Given the description of an element on the screen output the (x, y) to click on. 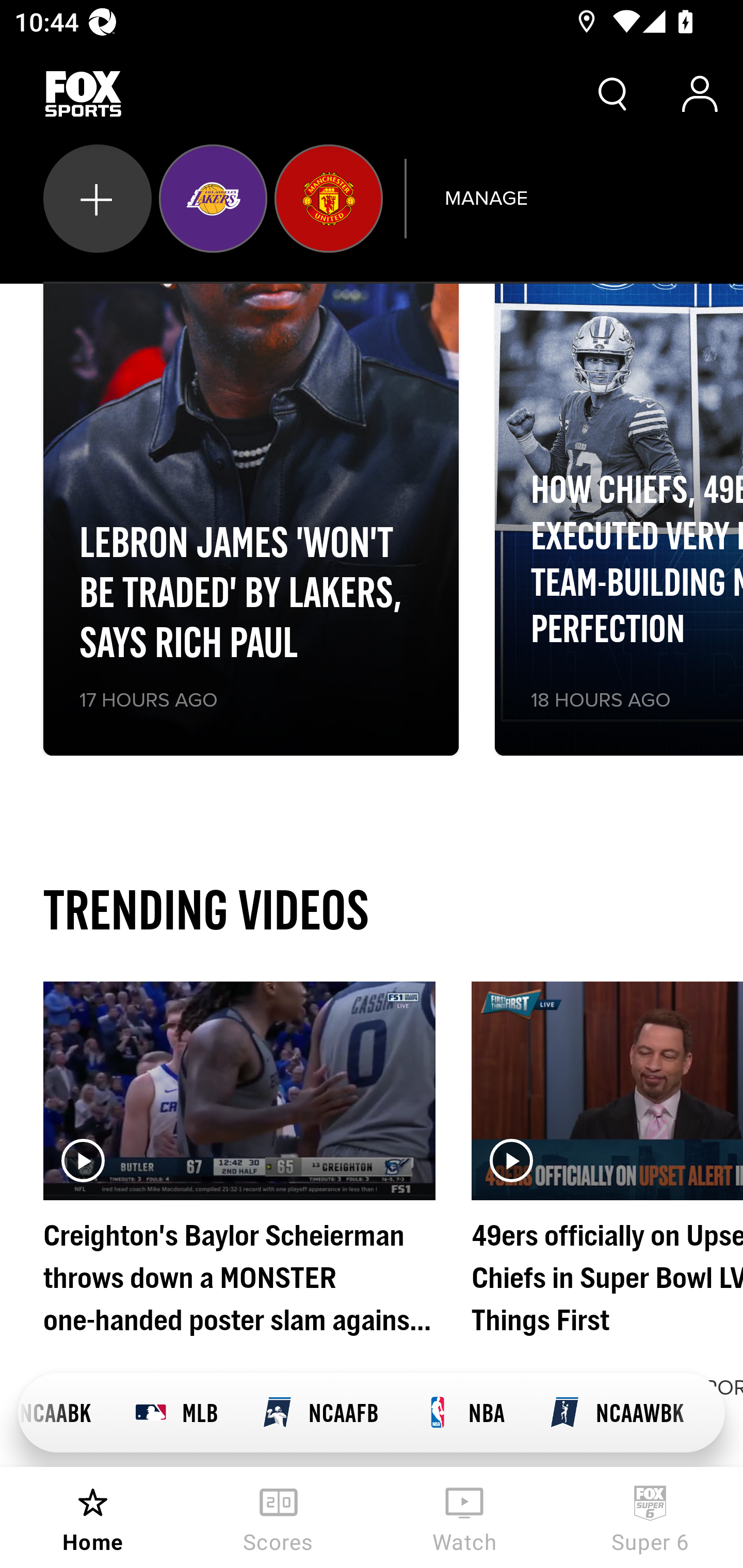
Search (612, 93)
Account (699, 93)
MANAGE (485, 198)
NCAABK (64, 1412)
MLB (175, 1412)
NCAAFB (319, 1412)
NBA (462, 1412)
NCAAWBK (615, 1412)
Scores (278, 1517)
Watch (464, 1517)
Super 6 (650, 1517)
